Given the description of an element on the screen output the (x, y) to click on. 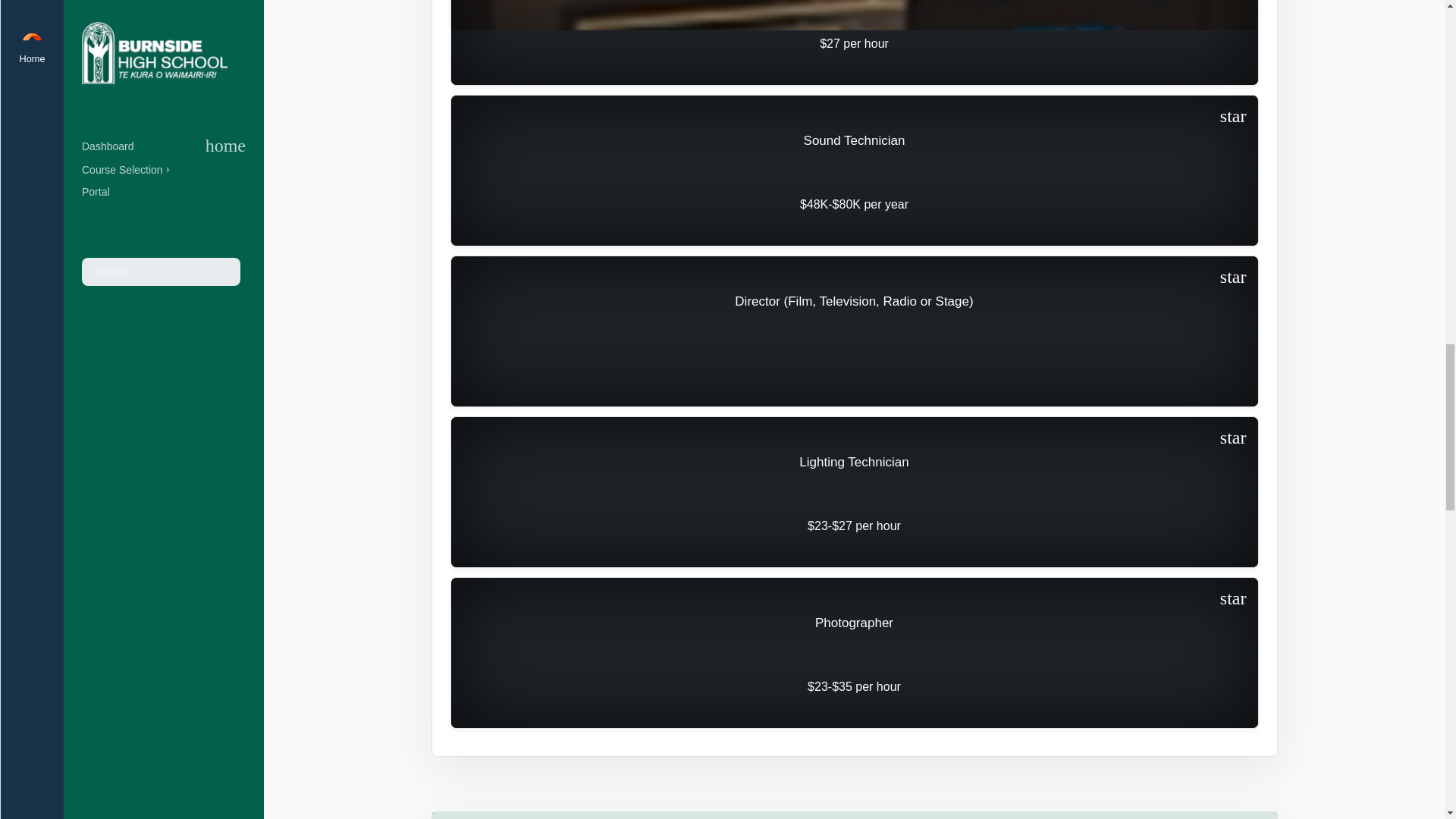
star (1233, 117)
star (1233, 438)
star (1233, 277)
star (1233, 598)
